Given the description of an element on the screen output the (x, y) to click on. 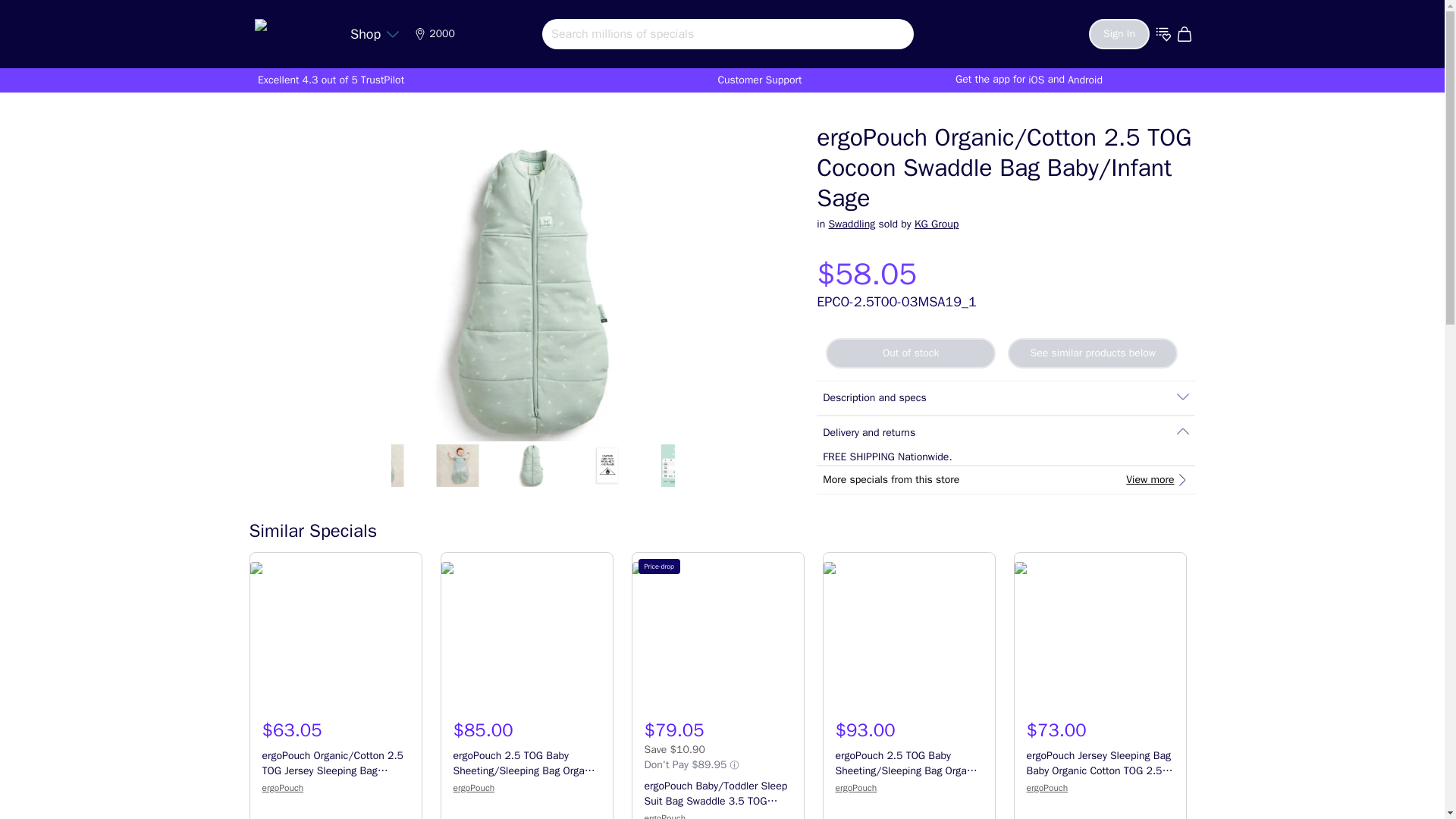
lasoo (291, 30)
Shop (374, 33)
Go to wishlist (1163, 33)
Go to cart (1185, 33)
